Given the description of an element on the screen output the (x, y) to click on. 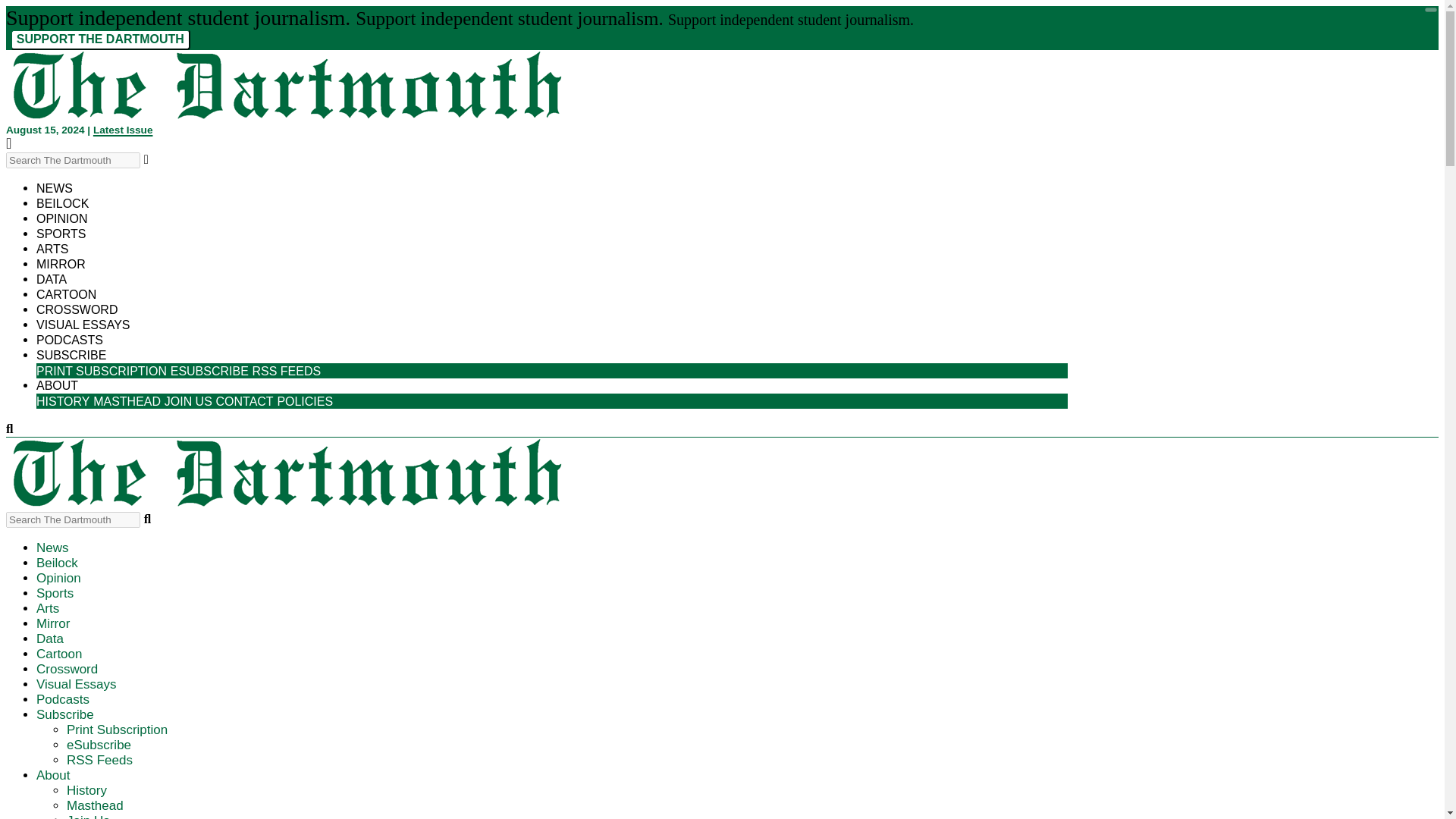
Mirror (52, 623)
SUPPORT THE DARTMOUTH (100, 39)
CONTACT (244, 401)
Data (51, 278)
Sports (55, 593)
SUBSCRIBE (71, 354)
Podcasts (69, 339)
Beilock (62, 203)
Data (50, 638)
POLICIES (304, 397)
